Given the description of an element on the screen output the (x, y) to click on. 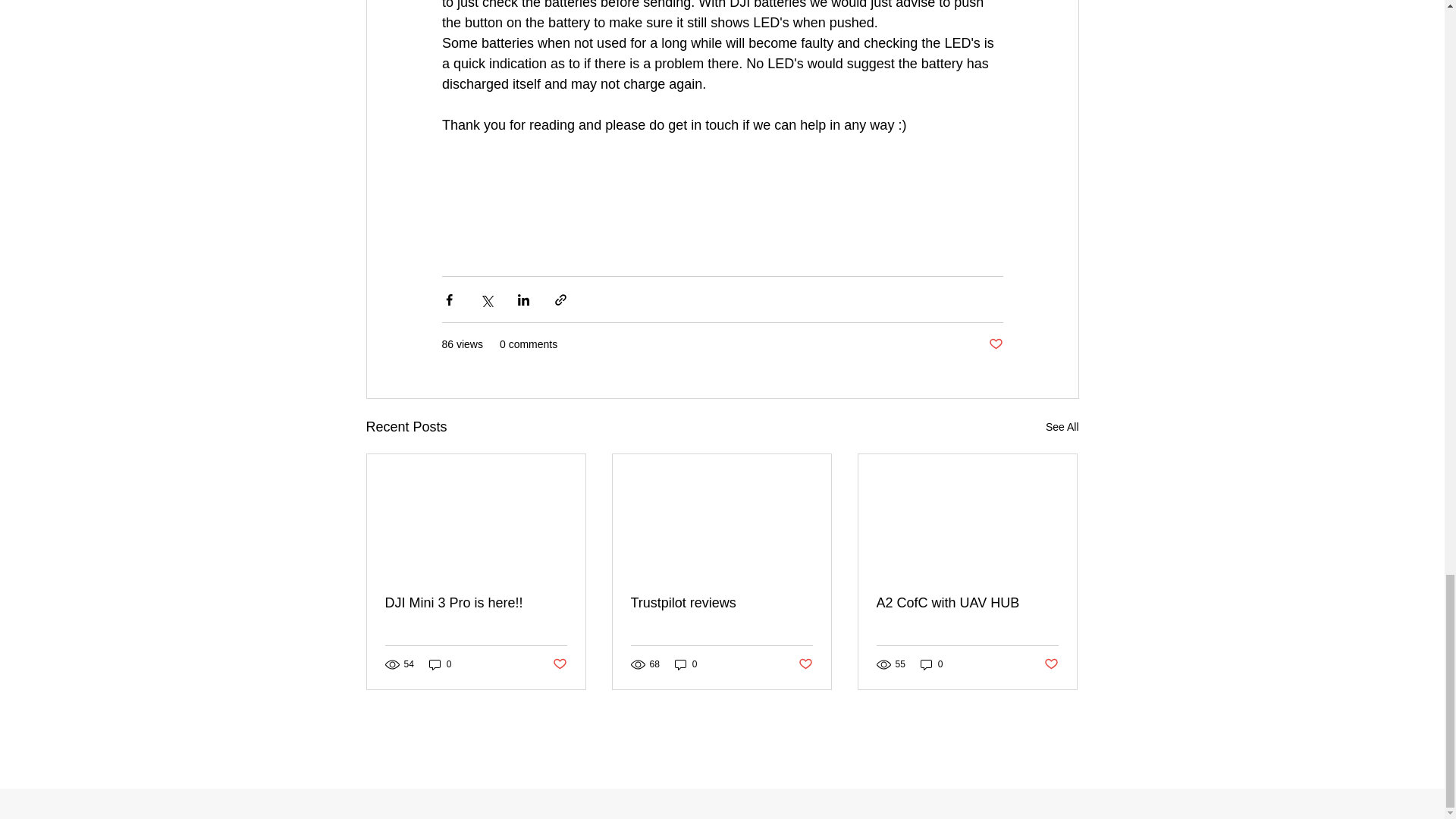
DJI Mini 3 Pro is here!! (476, 602)
Post not marked as liked (995, 344)
0 (440, 664)
See All (1061, 427)
Trustpilot reviews (721, 602)
Post not marked as liked (558, 664)
0 (931, 664)
Post not marked as liked (804, 664)
A2 CofC with UAV HUB (967, 602)
Post not marked as liked (1050, 664)
